Given the description of an element on the screen output the (x, y) to click on. 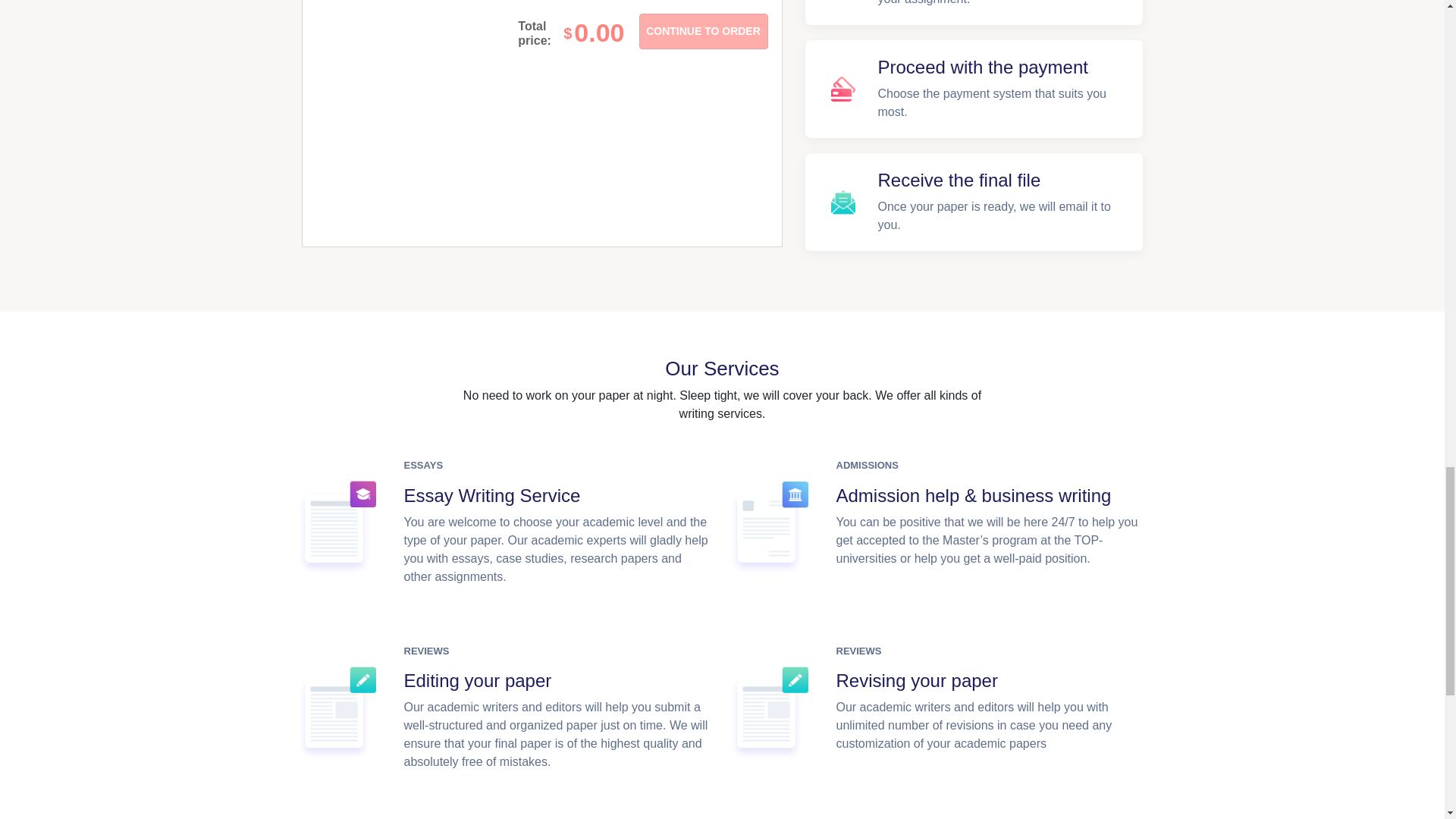
Continue to order (703, 31)
Continue to Order (703, 31)
Continue to order (703, 31)
